Given the description of an element on the screen output the (x, y) to click on. 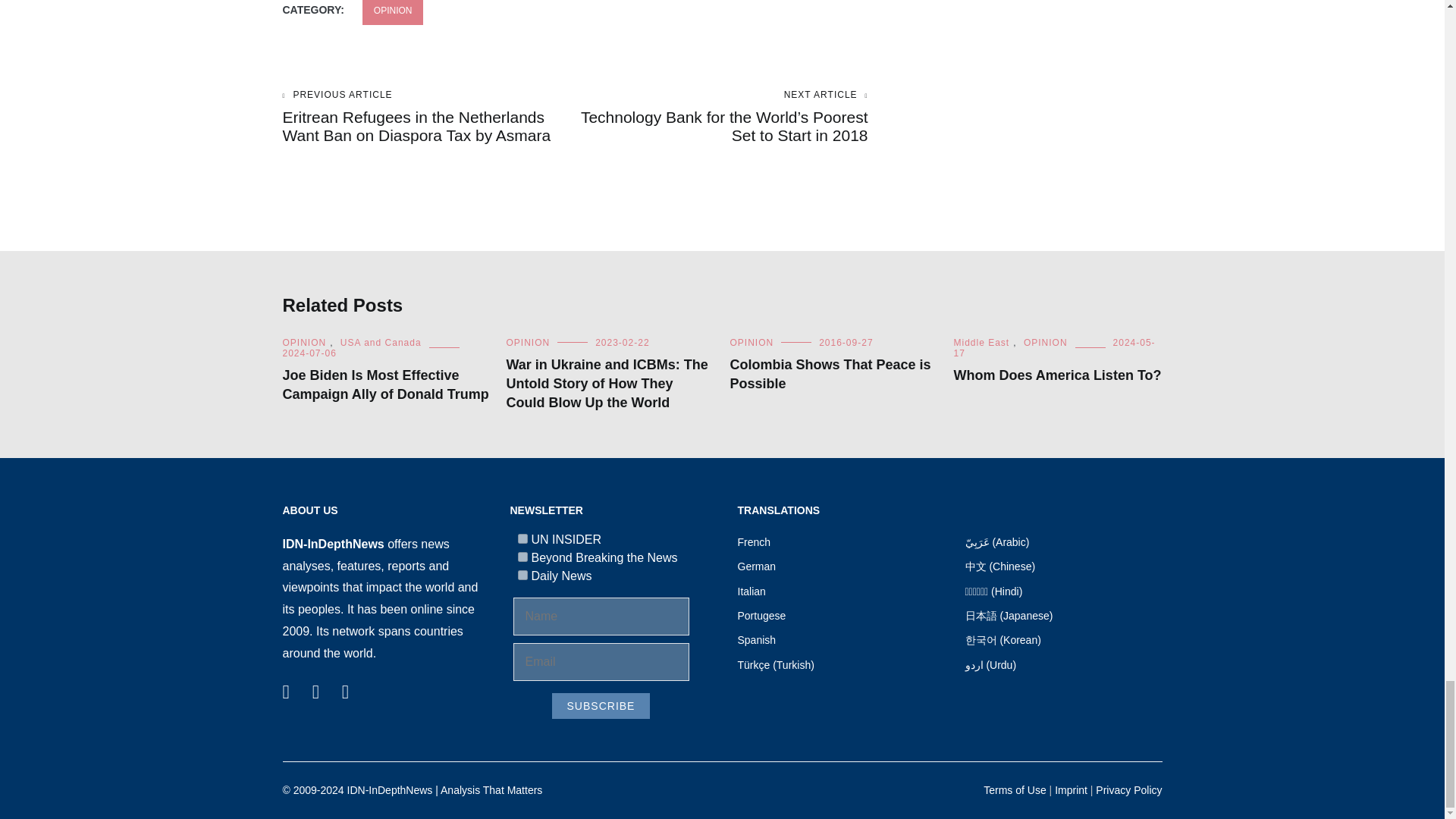
Imprint (1070, 789)
10 (521, 574)
9 (521, 556)
7 (521, 538)
Terms of Use (1014, 789)
